Given the description of an element on the screen output the (x, y) to click on. 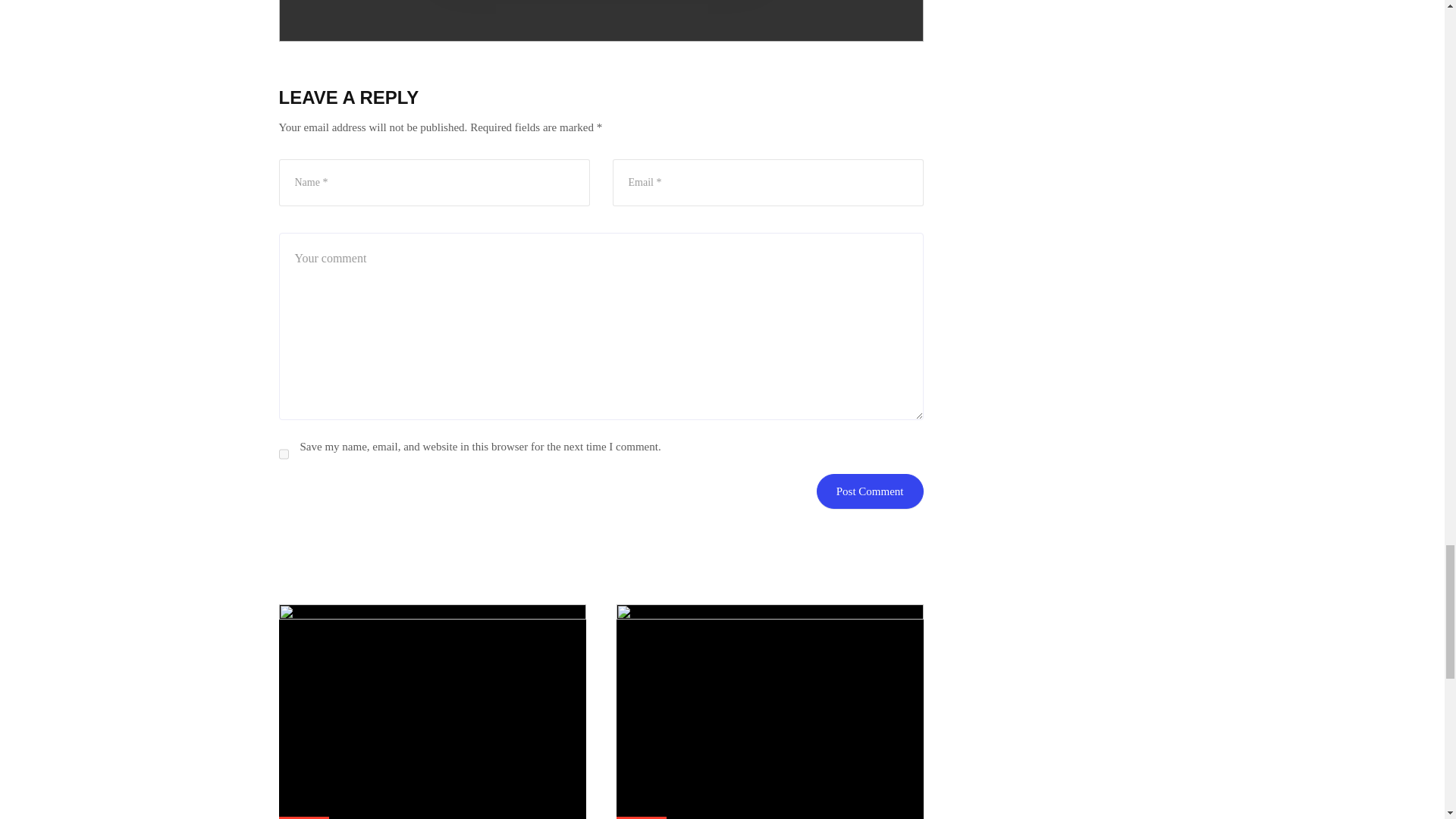
yes (283, 454)
Post Comment (869, 491)
